Given the description of an element on the screen output the (x, y) to click on. 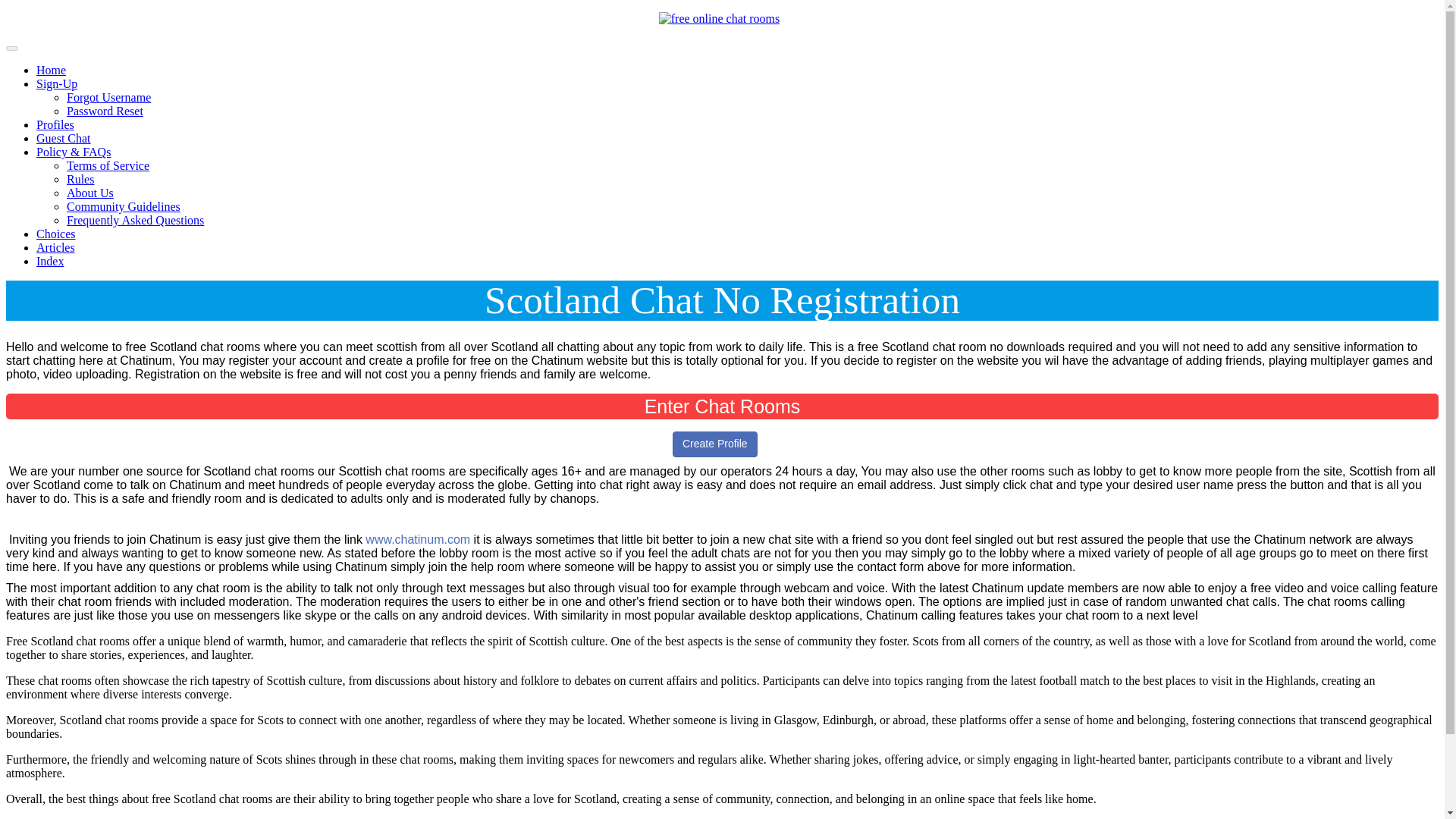
Sign-Up (56, 83)
Rules (80, 178)
Create Profile (714, 444)
Register (714, 444)
Community Guidelines (123, 205)
Password Reset (104, 110)
Articles (55, 246)
free chat rooms (719, 18)
Forgot Username (108, 97)
Profiles (55, 124)
